Given the description of an element on the screen output the (x, y) to click on. 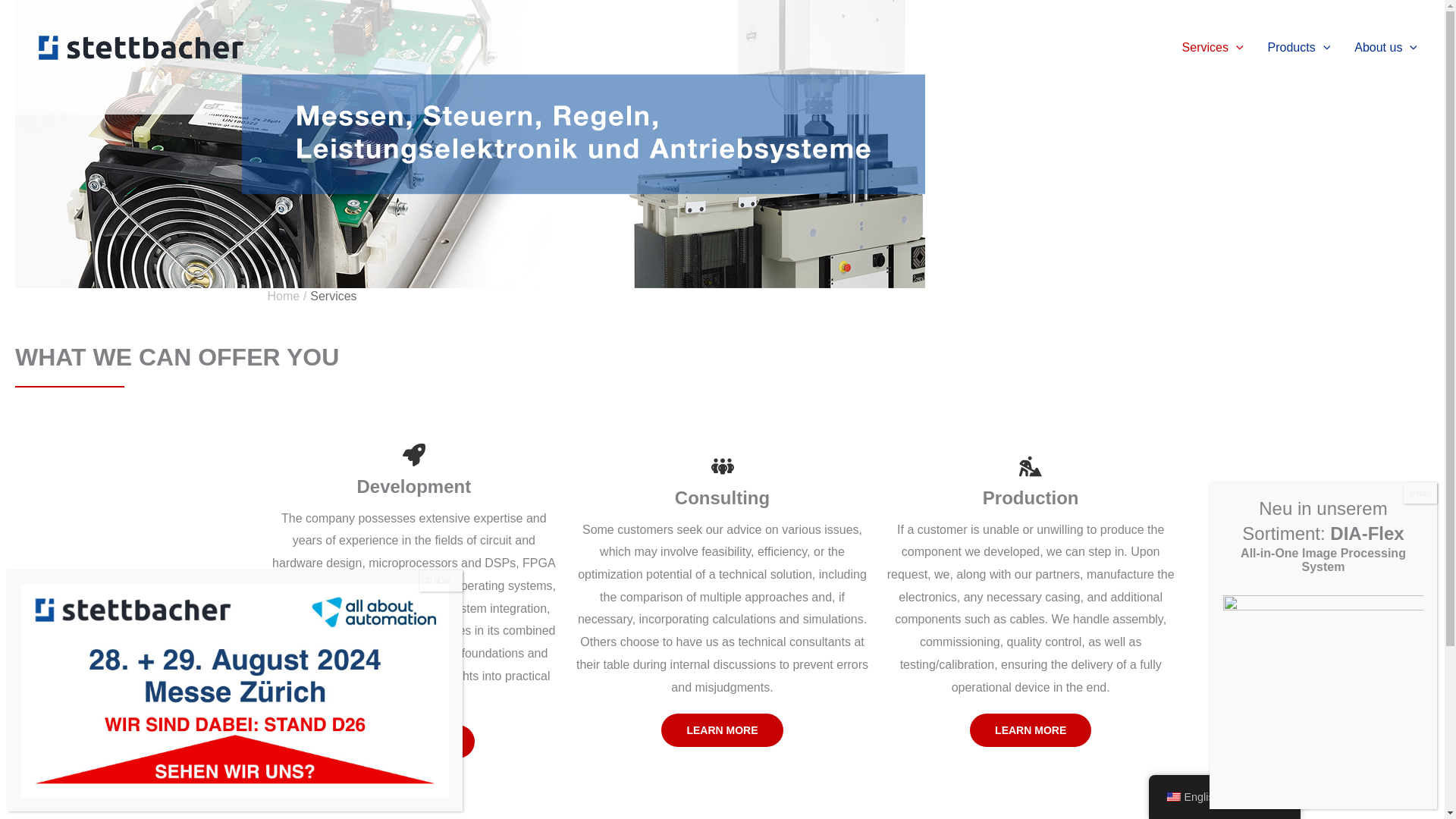
Products (1298, 47)
English (1172, 796)
About us (1385, 47)
Services (1212, 47)
